Given the description of an element on the screen output the (x, y) to click on. 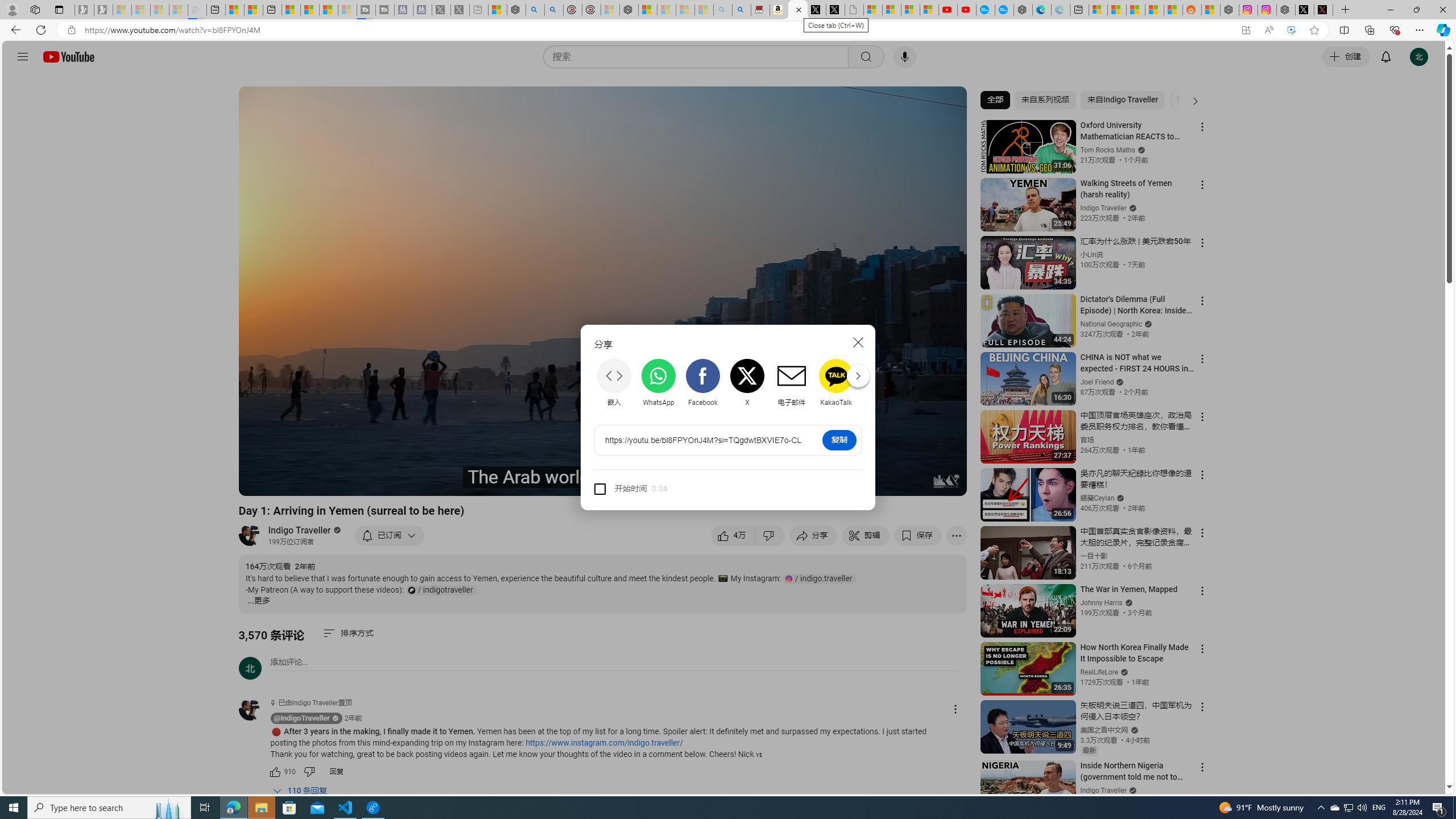
KakaoTalk (836, 382)
https://www.instagram.com/indigo.traveller/ (603, 742)
Enhance video (1291, 29)
